Given the description of an element on the screen output the (x, y) to click on. 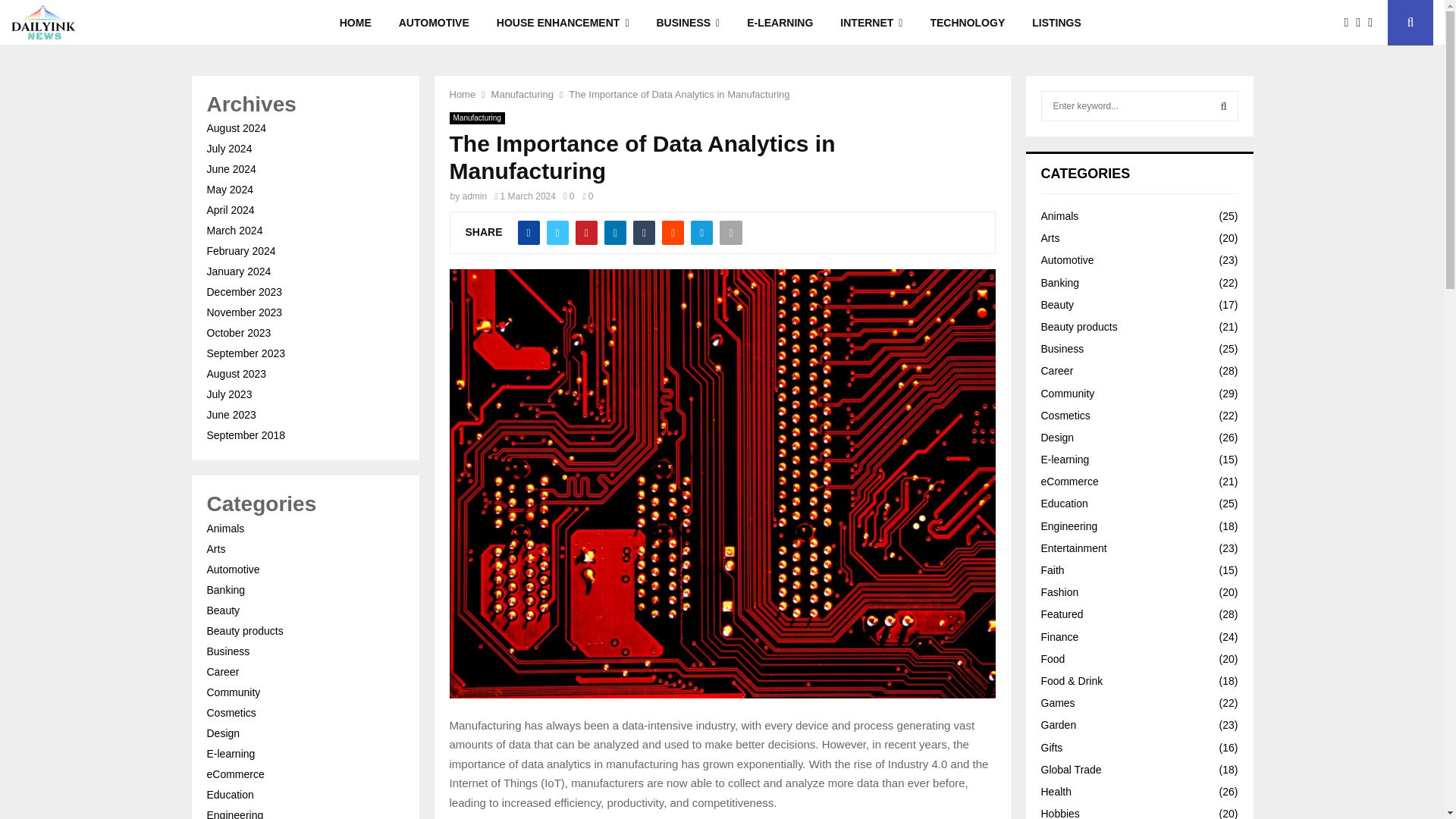
Manufacturing (522, 93)
Home (462, 93)
BUSINESS (688, 22)
HOUSE ENHANCEMENT (563, 22)
0 (568, 195)
HOME (355, 22)
The Importance of Data Analytics in Manufacturing (679, 93)
INTERNET (871, 22)
TECHNOLOGY (966, 22)
LISTINGS (1055, 22)
